Given the description of an element on the screen output the (x, y) to click on. 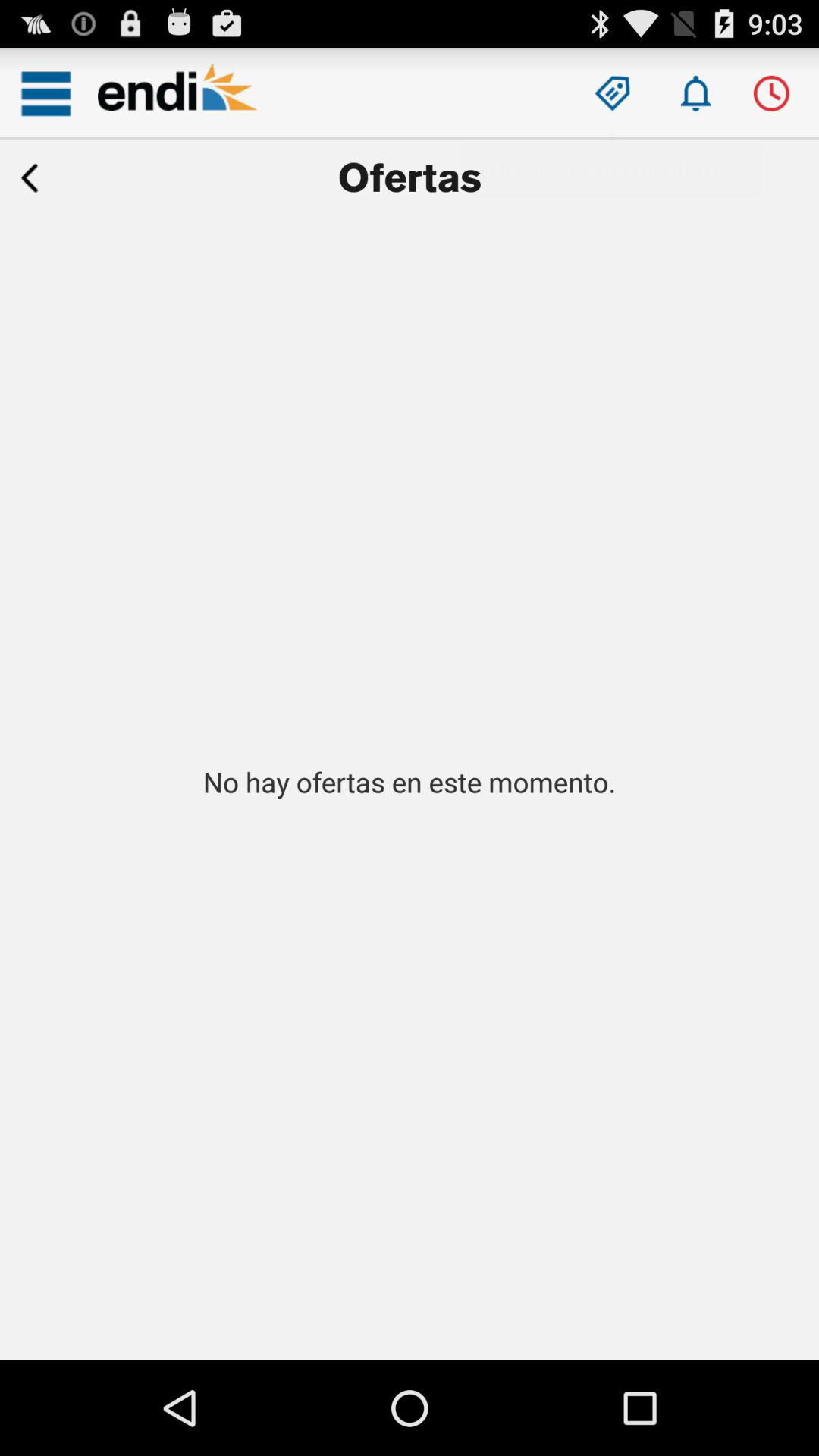
menu (45, 93)
